Given the description of an element on the screen output the (x, y) to click on. 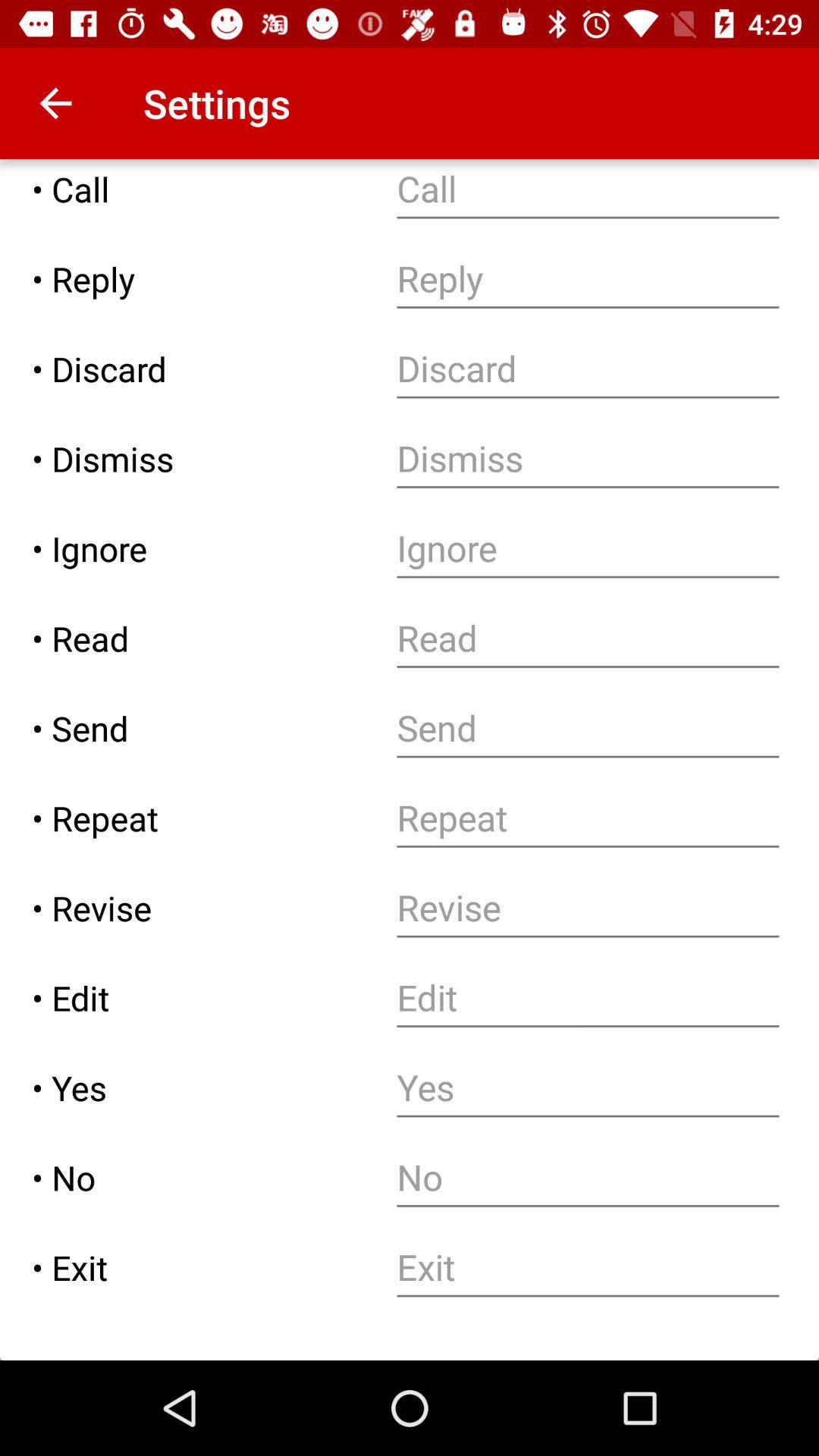
setup reply (588, 279)
